Given the description of an element on the screen output the (x, y) to click on. 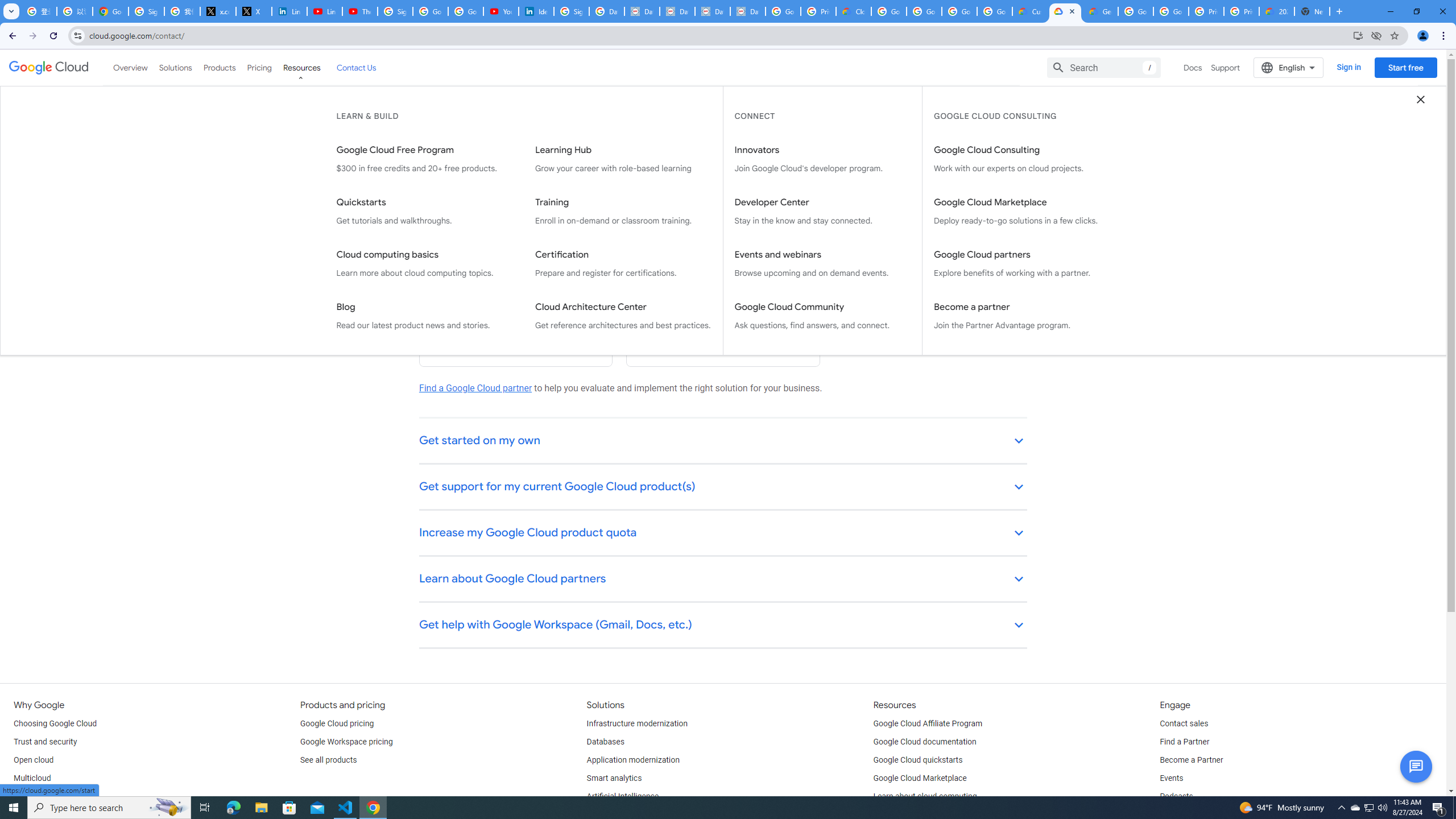
Innovators Join Google Cloud's developer program. (821, 159)
Sign in - Google Accounts (571, 11)
View site information (77, 35)
Increase my Google Cloud product quota keyboard_arrow_down (723, 533)
Multicloud (31, 778)
Back (10, 35)
Sign in - Google Accounts (145, 11)
Global infrastructure (49, 796)
Databases (605, 742)
Install Google Cloud (1358, 35)
Minimize (1390, 11)
English (1288, 67)
Developer Center Stay in the know and stay connected. (821, 211)
